Given the description of an element on the screen output the (x, y) to click on. 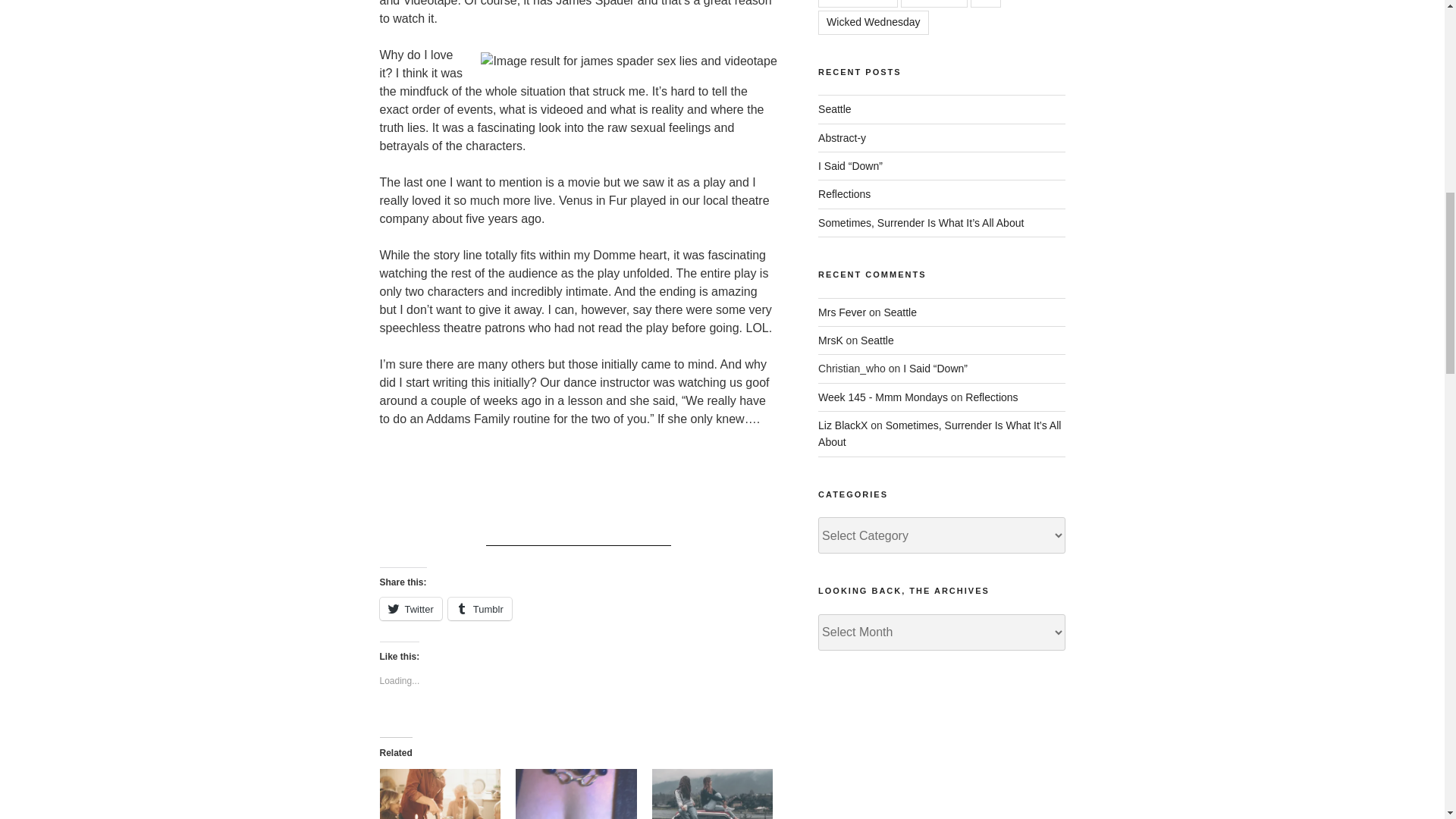
Friendship (712, 794)
Click to share on Twitter (409, 608)
Click to share on Tumblr (480, 608)
Mothers and Grandmothers (439, 794)
